Given the description of an element on the screen output the (x, y) to click on. 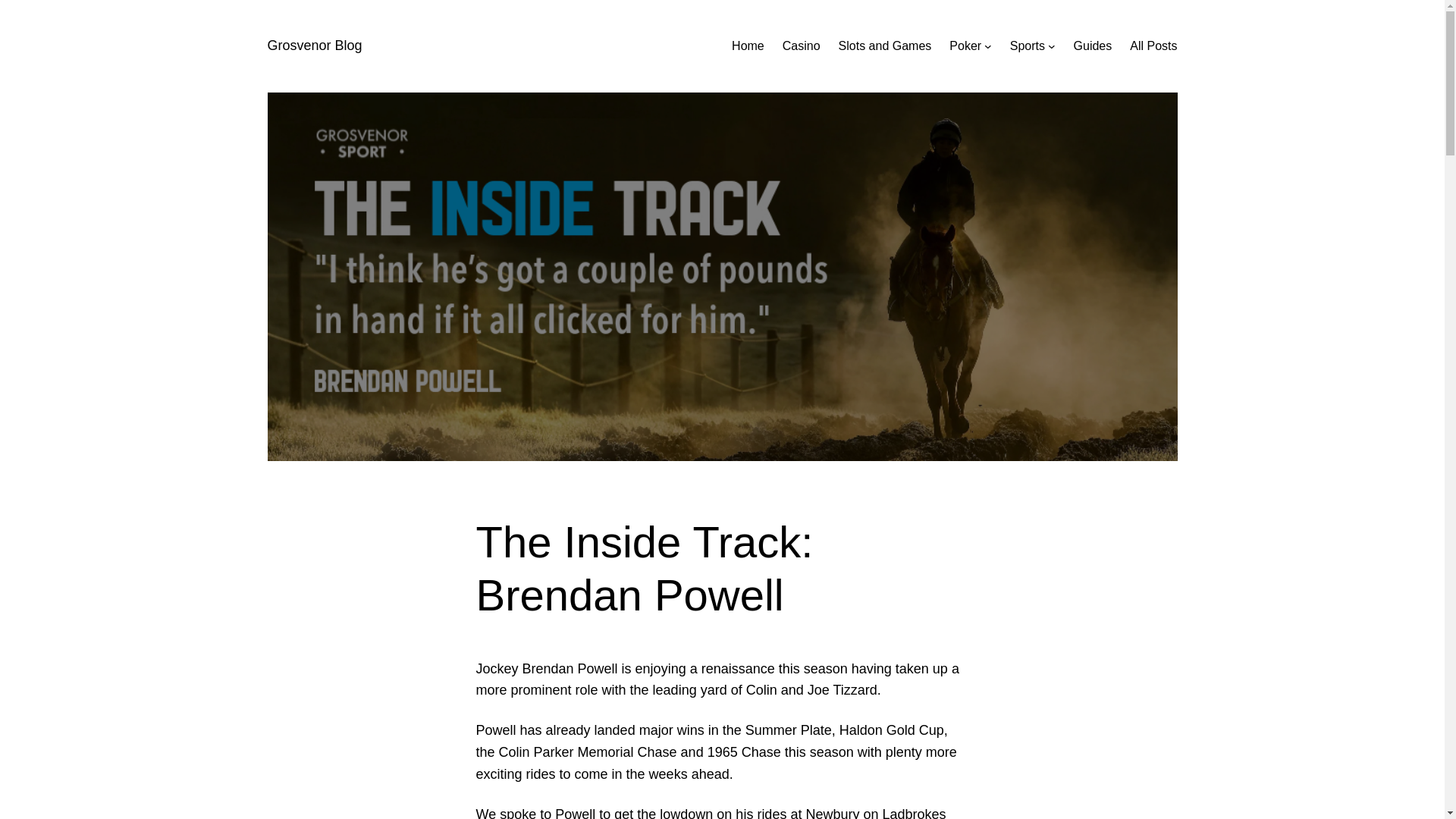
Casino (802, 46)
Grosvenor Blog (313, 45)
Home (748, 46)
Poker (965, 46)
Guides (1093, 46)
Slots and Games (884, 46)
Sports (1027, 46)
All Posts (1152, 46)
